Given the description of an element on the screen output the (x, y) to click on. 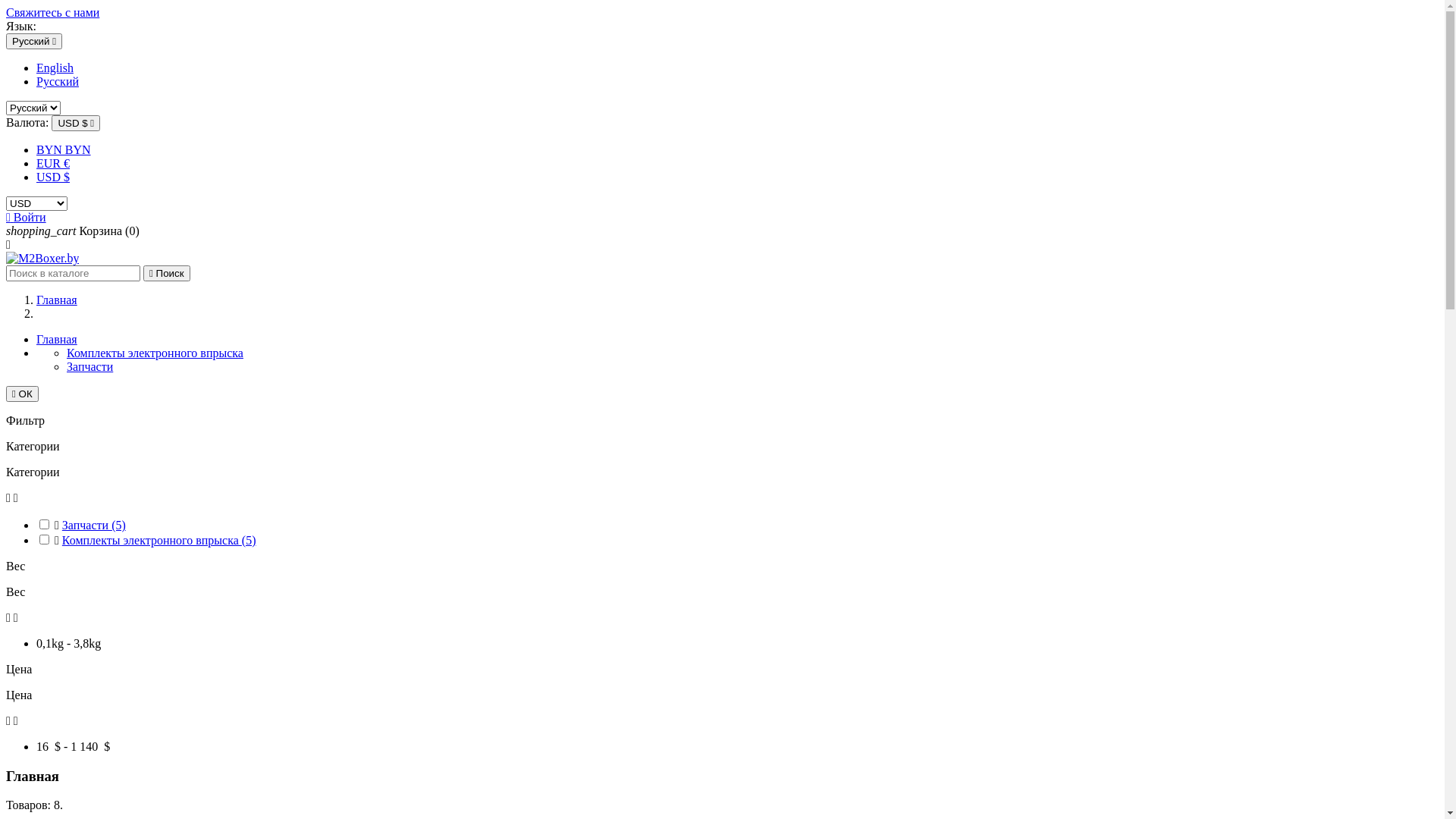
USD $ Element type: text (52, 176)
English Element type: text (54, 67)
BYN BYN Element type: text (63, 149)
